Given the description of an element on the screen output the (x, y) to click on. 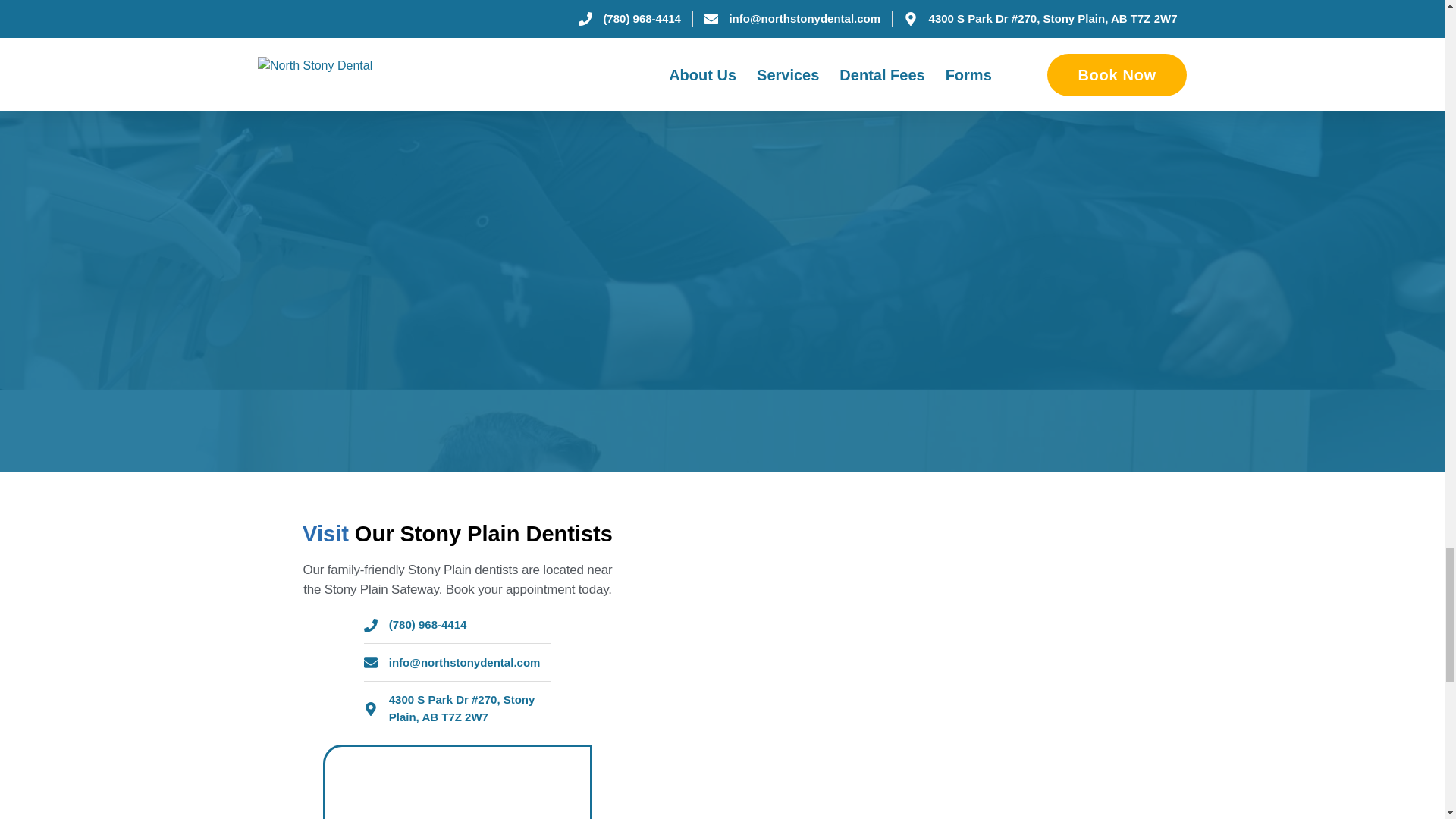
North Stony Dental (456, 782)
North Stony Dental, Dentist in Stony Plain 13 (745, 628)
North Stony Dental, Dentist in Stony Plain 10 (1002, 794)
North Stony Dental, Dentist in Stony Plain 5 (1002, 690)
